Given the description of an element on the screen output the (x, y) to click on. 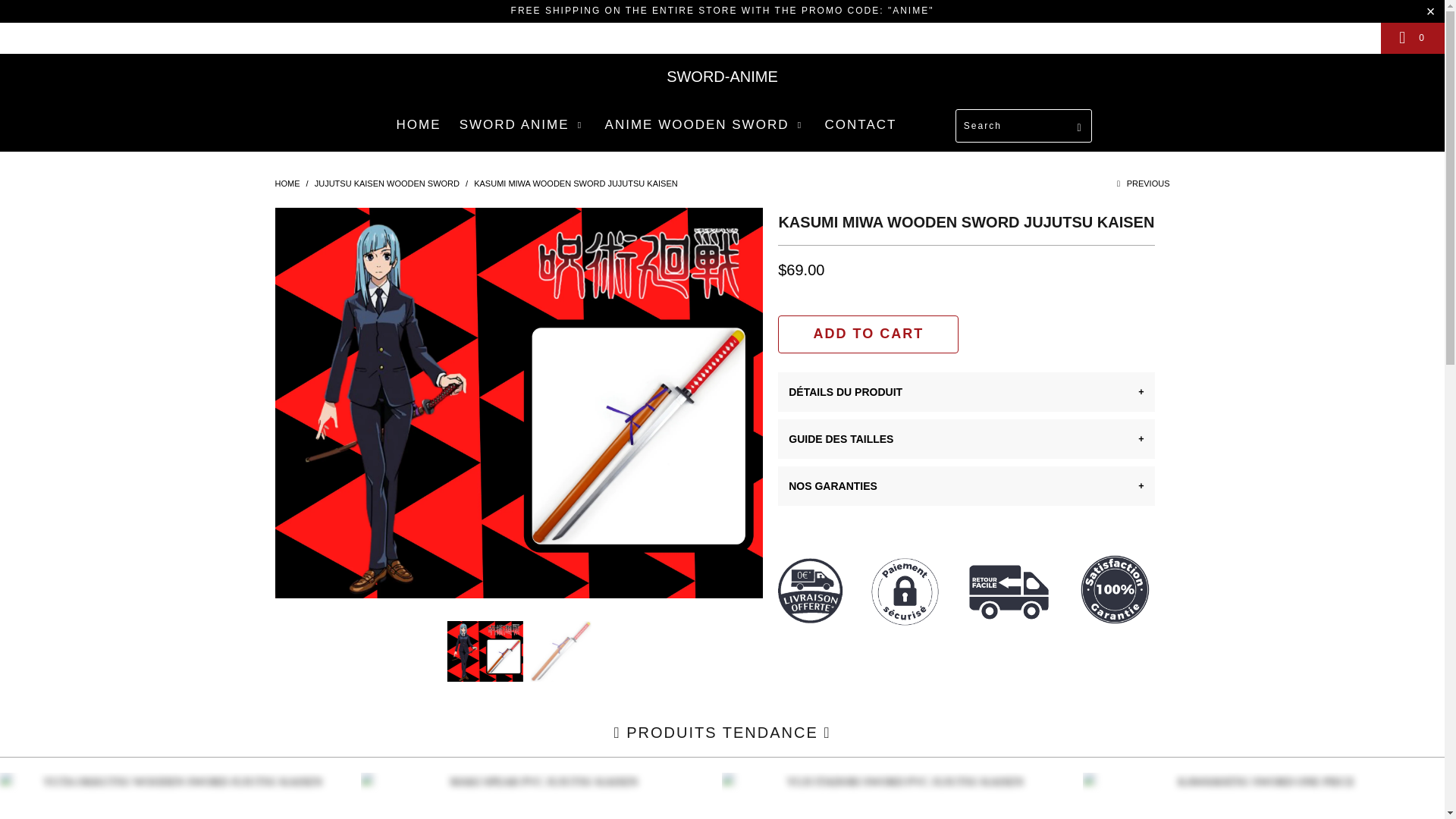
sword-anime (287, 183)
JUJUTSU KAISEN WOODEN  SWORD (387, 183)
Previous (1141, 183)
